Given the description of an element on the screen output the (x, y) to click on. 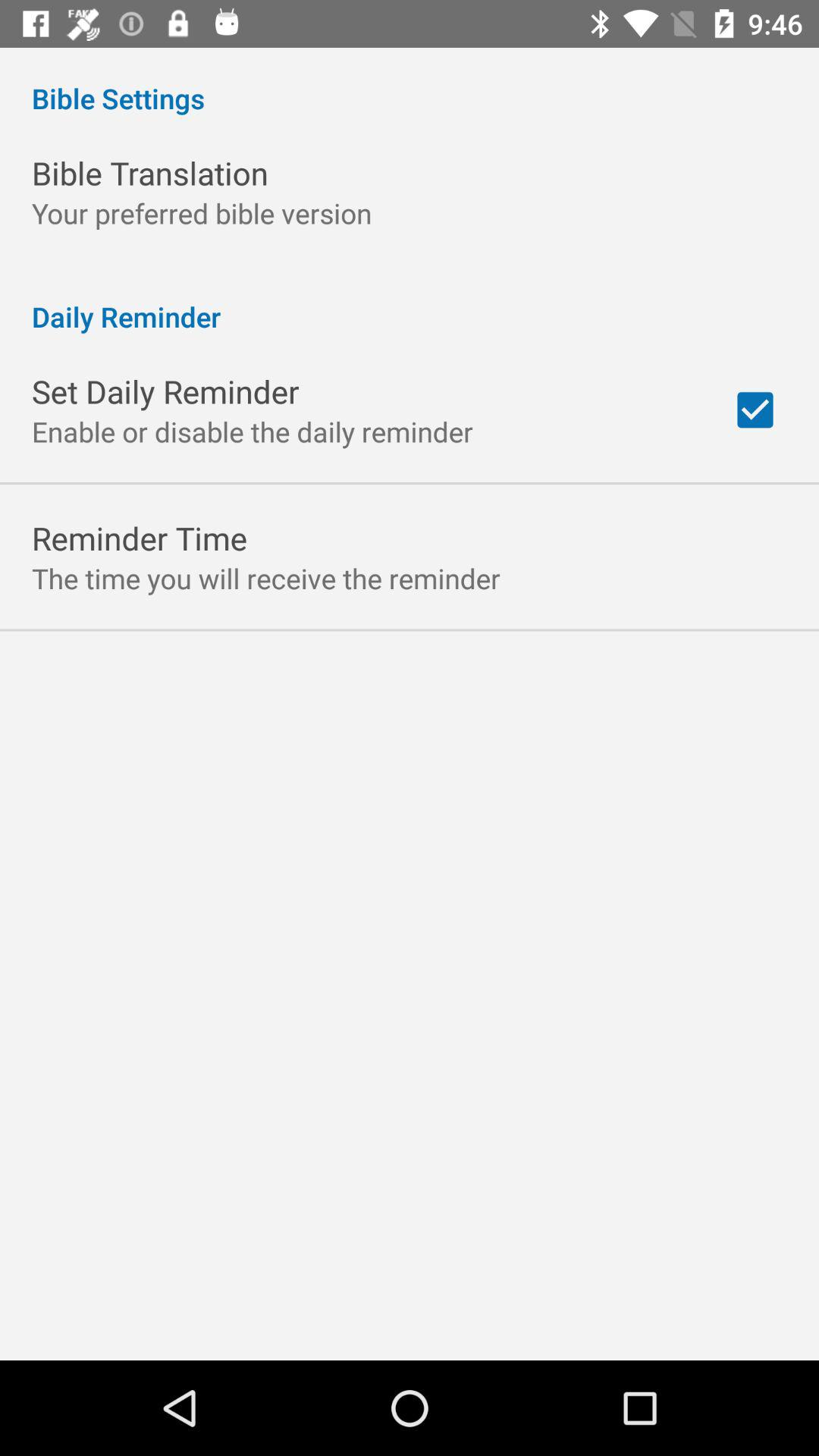
choose item above the reminder time item (252, 431)
